Given the description of an element on the screen output the (x, y) to click on. 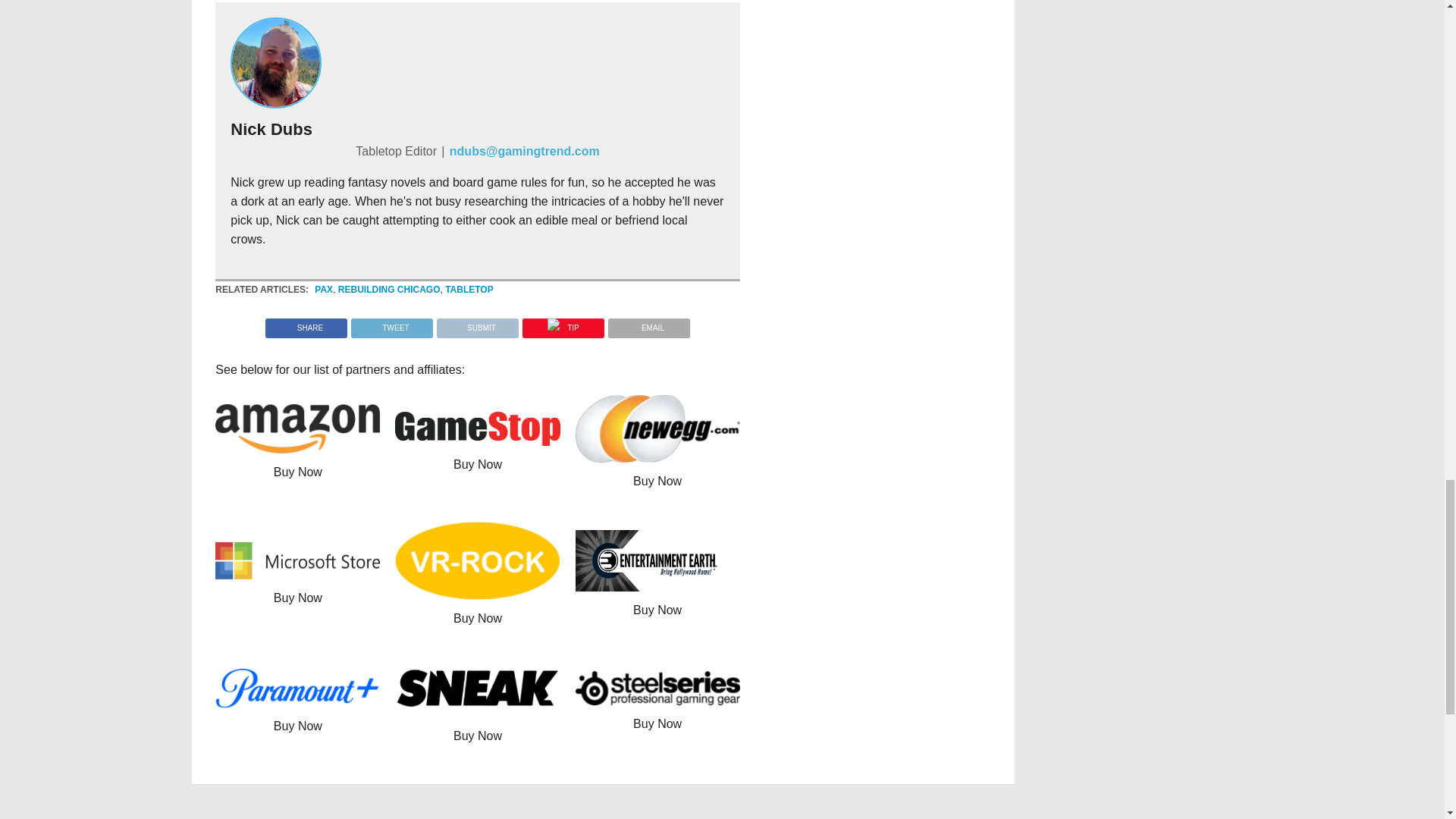
Share on Facebook (305, 323)
Tweet This Post (391, 323)
